Given the description of an element on the screen output the (x, y) to click on. 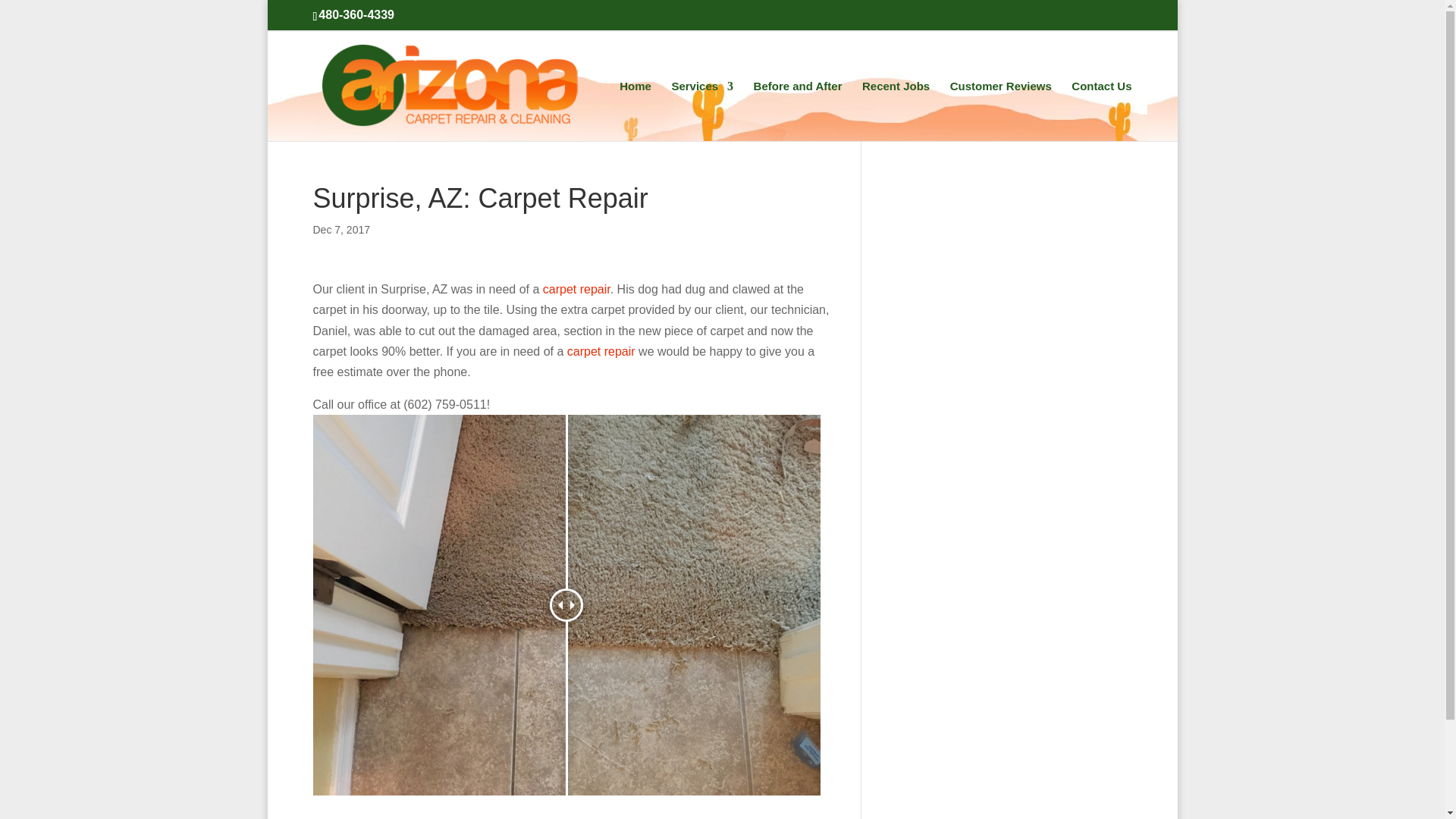
Recent Jobs (895, 110)
Customer Reviews (1000, 110)
Before and After (798, 110)
carpet repair (600, 350)
Services (702, 110)
480-360-4339 (356, 14)
carpet repair (576, 288)
Contact Us (1101, 110)
